Given the description of an element on the screen output the (x, y) to click on. 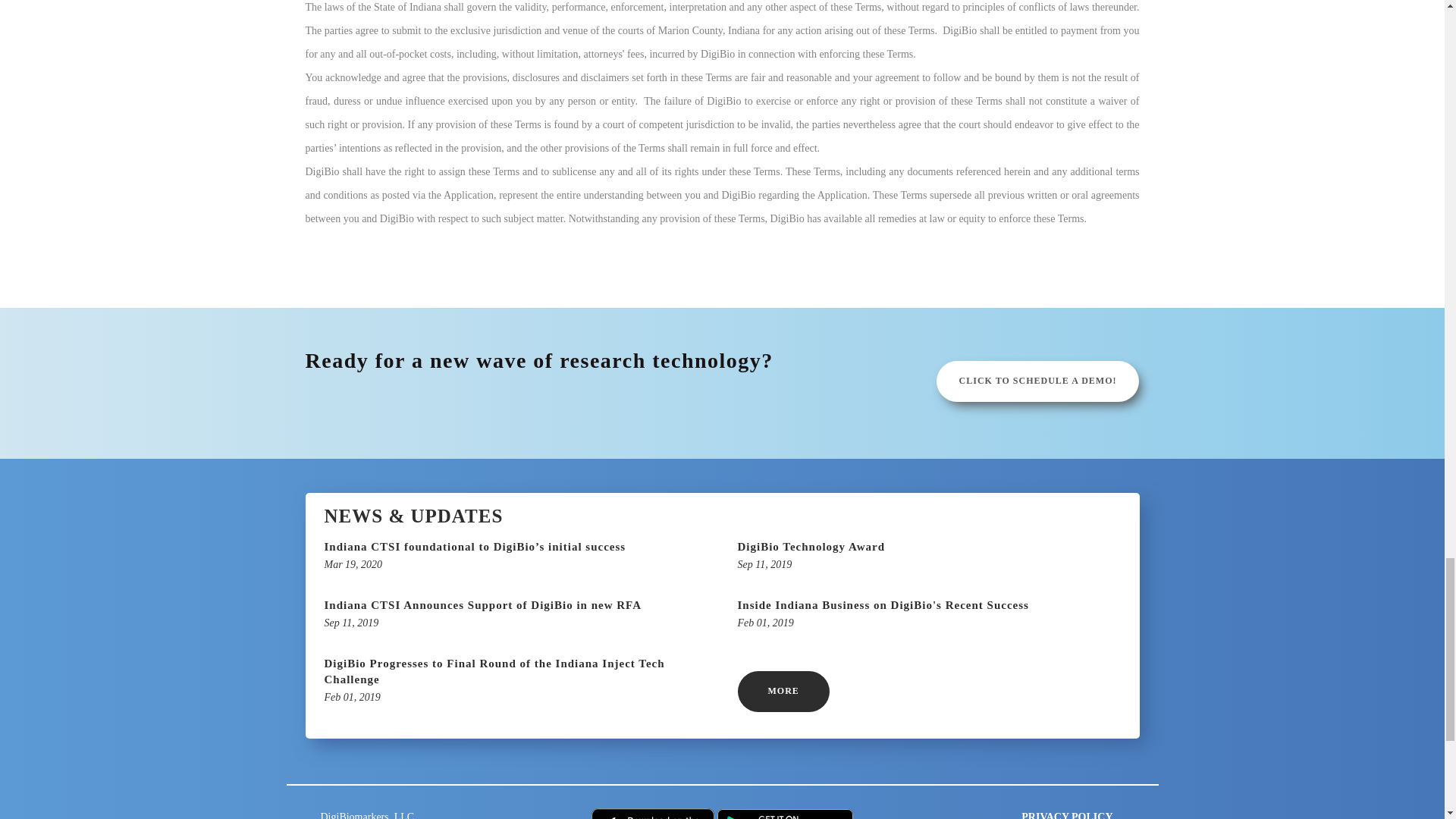
PRIVACY POLICY (1067, 815)
MORE (927, 556)
CLICK TO SCHEDULE A DEMO! (782, 690)
